Given the description of an element on the screen output the (x, y) to click on. 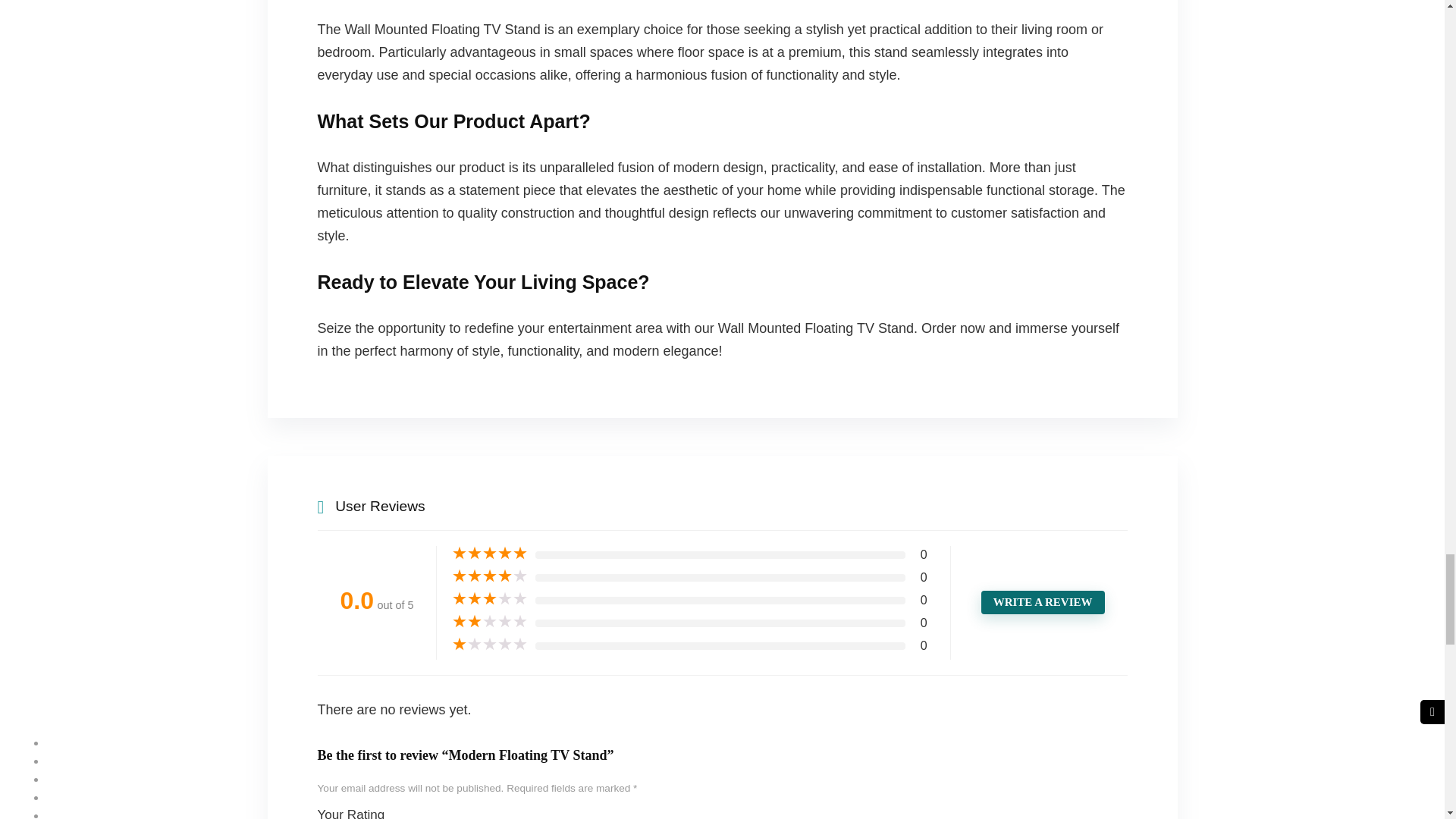
Rated 4 out of 5 (489, 575)
WRITE A REVIEW (1043, 602)
Rated 5 out of 5 (489, 553)
Rated 1 out of 5 (489, 644)
Rated 3 out of 5 (489, 598)
Rated 2 out of 5 (489, 621)
